Given the description of an element on the screen output the (x, y) to click on. 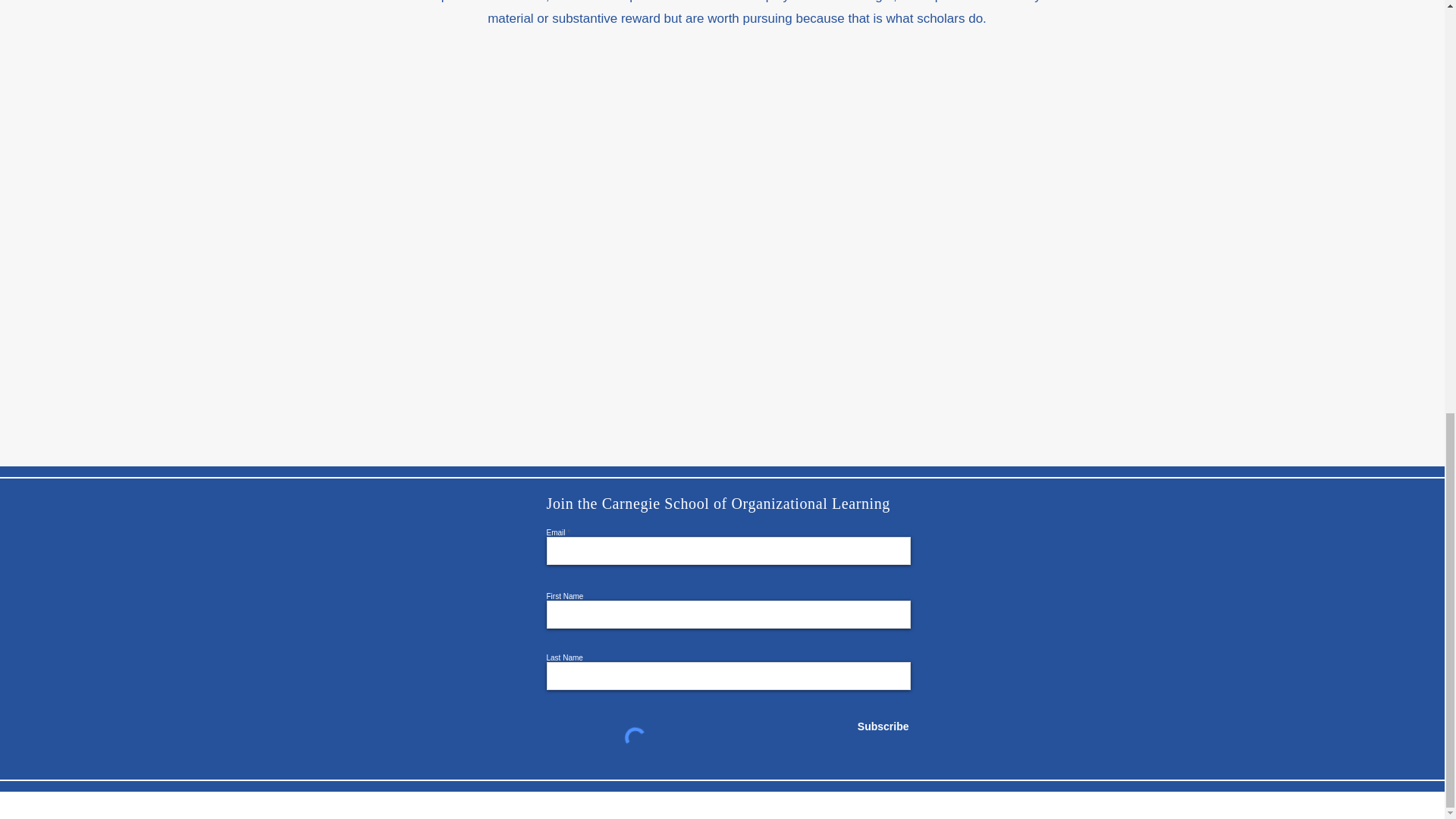
Subscribe (872, 726)
